Given the description of an element on the screen output the (x, y) to click on. 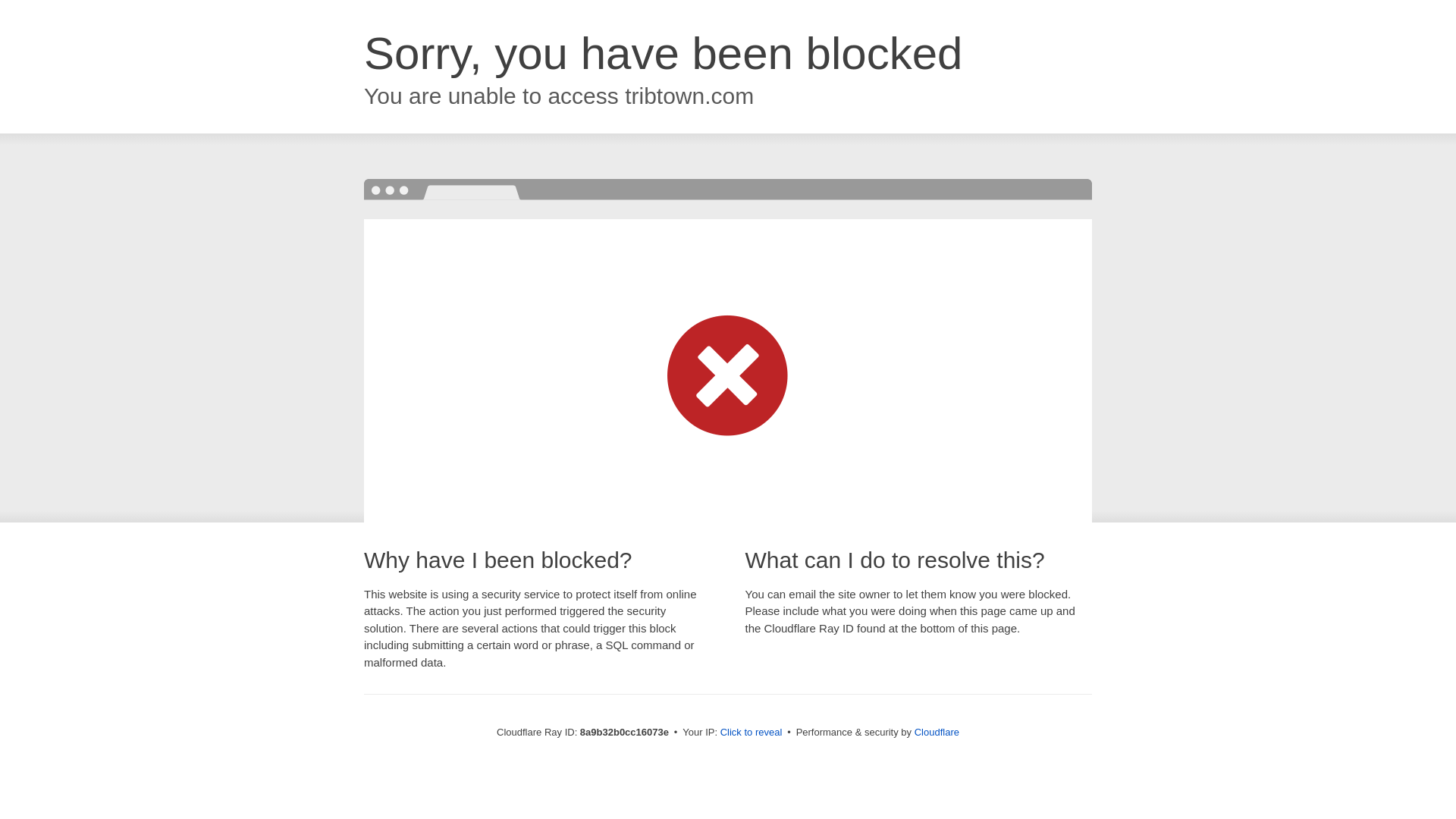
Cloudflare (936, 731)
Click to reveal (751, 732)
